Given the description of an element on the screen output the (x, y) to click on. 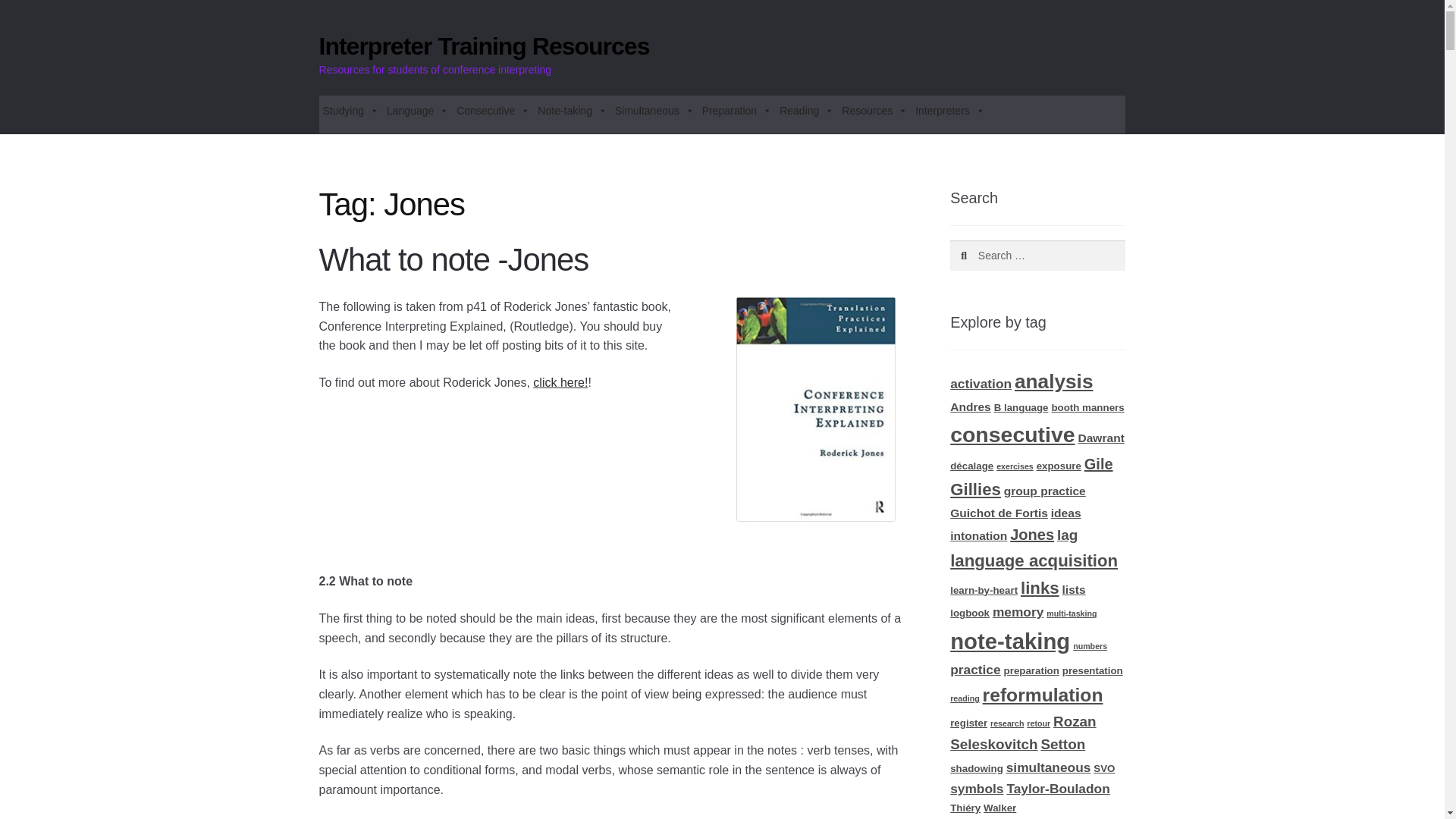
Preparation (737, 110)
Studying (350, 110)
Note-taking (572, 110)
Consecutive (493, 110)
Simultaneous (654, 110)
Language (417, 110)
Interpreter Training Resources (483, 45)
